Given the description of an element on the screen output the (x, y) to click on. 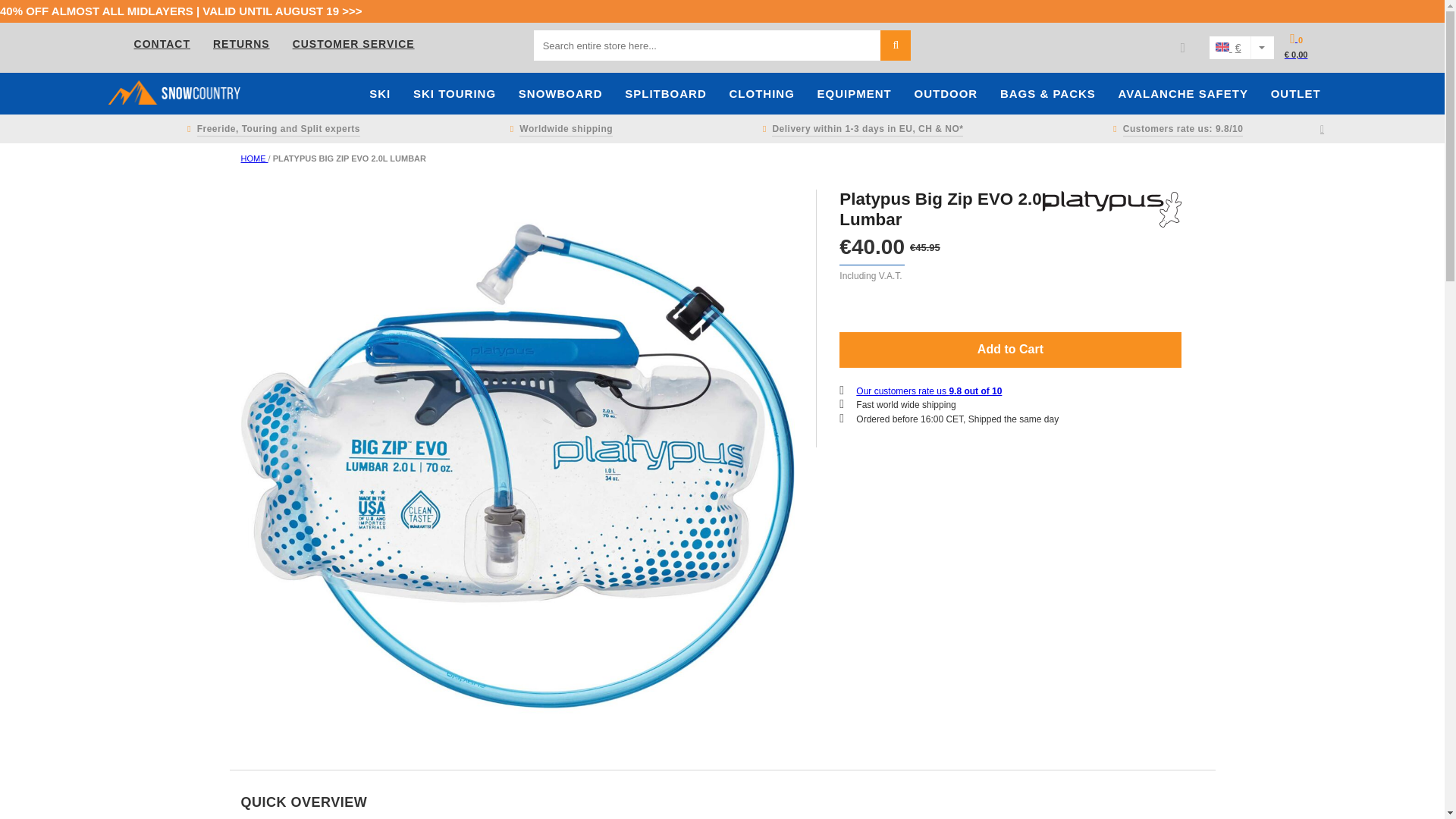
RETURNS (240, 43)
Add to Cart (1010, 349)
Worldwide shipping (557, 128)
CONTACT (161, 43)
CUSTOMER SERVICE (353, 43)
Customers rate (1175, 128)
Search (895, 45)
Delivery times (859, 128)
Go to Home Page (254, 157)
Search (895, 45)
